Given the description of an element on the screen output the (x, y) to click on. 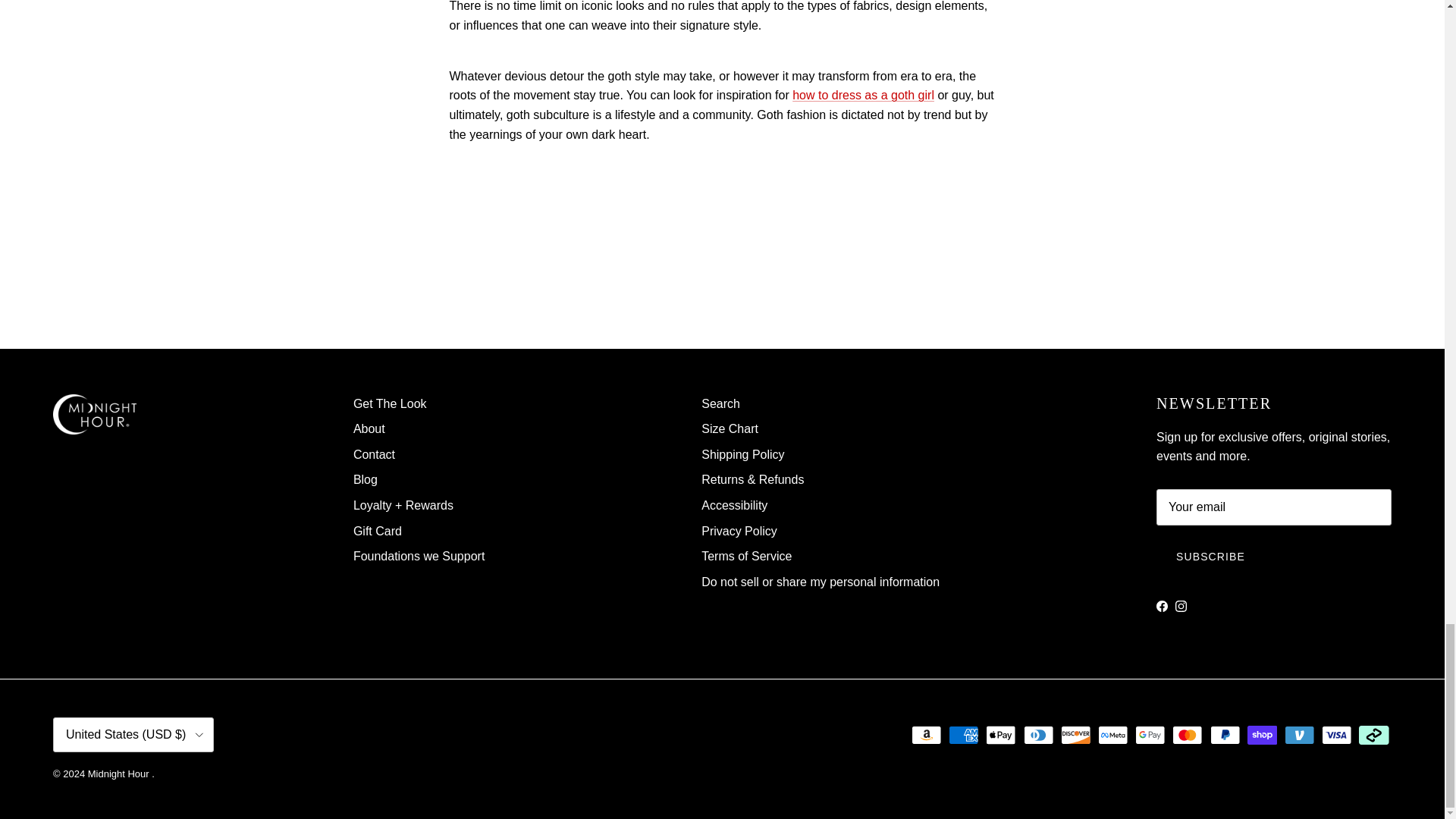
Mastercard (1187, 734)
Diners Club (1038, 734)
Venmo (1299, 734)
Shop Pay (1261, 734)
Google Pay (1149, 734)
Midnight Hour  on Instagram (1180, 605)
PayPal (1224, 734)
Afterpay (1373, 734)
Discover (1075, 734)
Midnight Hour  on Facebook (1161, 605)
